Given the description of an element on the screen output the (x, y) to click on. 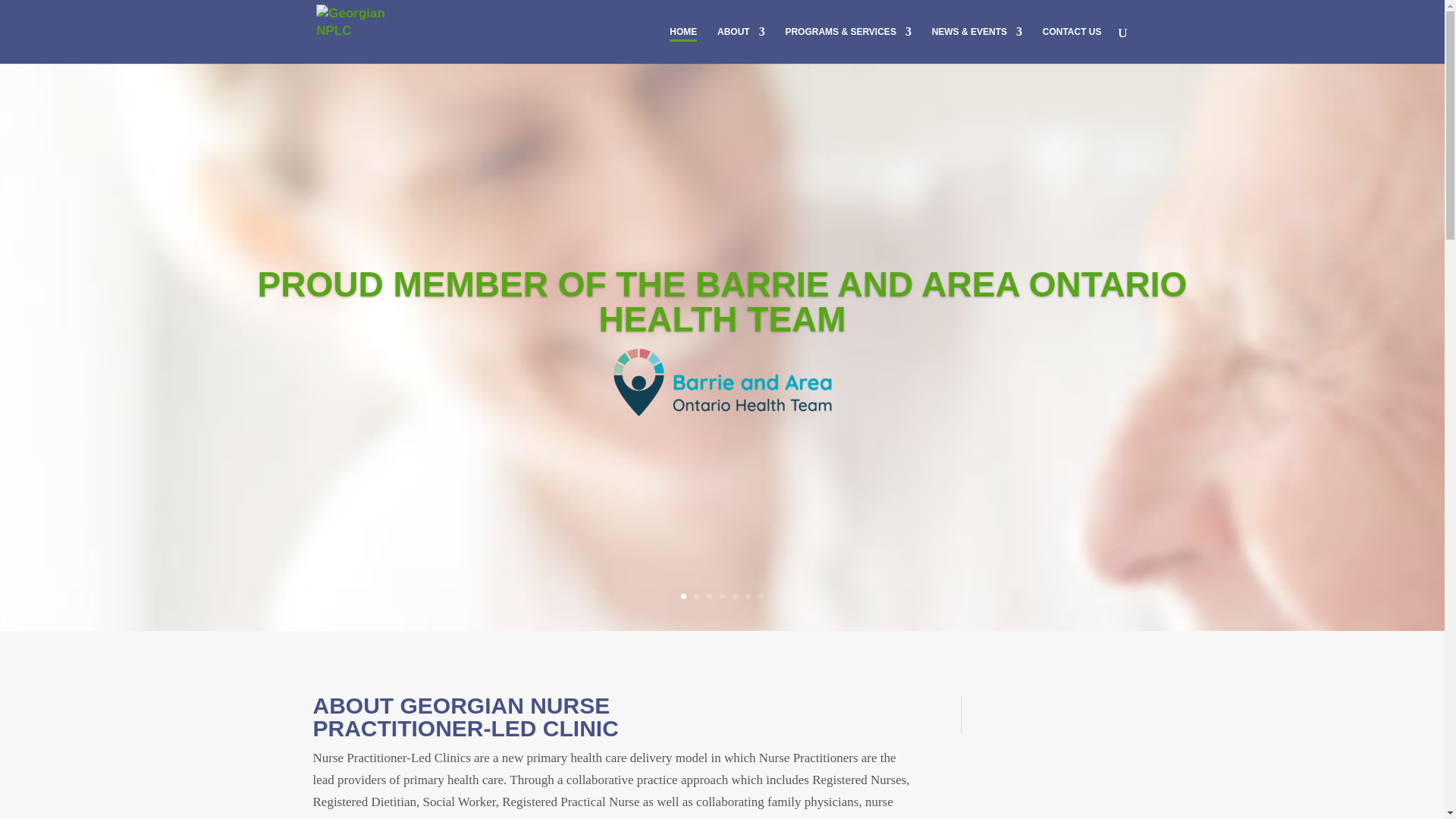
ABOUT (741, 44)
HOME (683, 33)
CONTACT US (1072, 44)
